Given the description of an element on the screen output the (x, y) to click on. 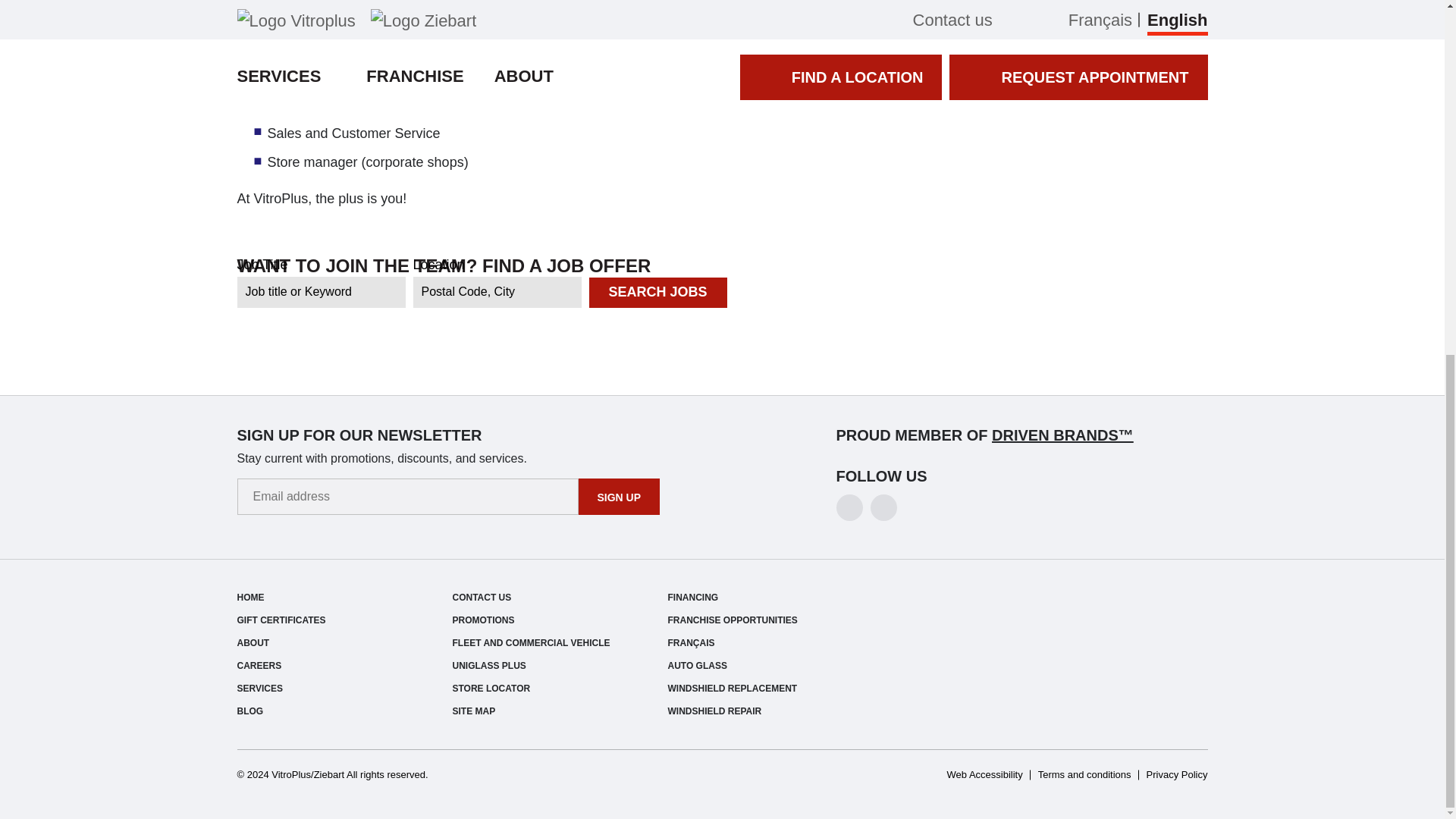
Gift Certificates (279, 620)
Services (258, 688)
youtube (883, 507)
Blog (249, 710)
About (252, 643)
Home (249, 597)
Careers (258, 665)
facebook (848, 507)
Contact us (481, 597)
